Given the description of an element on the screen output the (x, y) to click on. 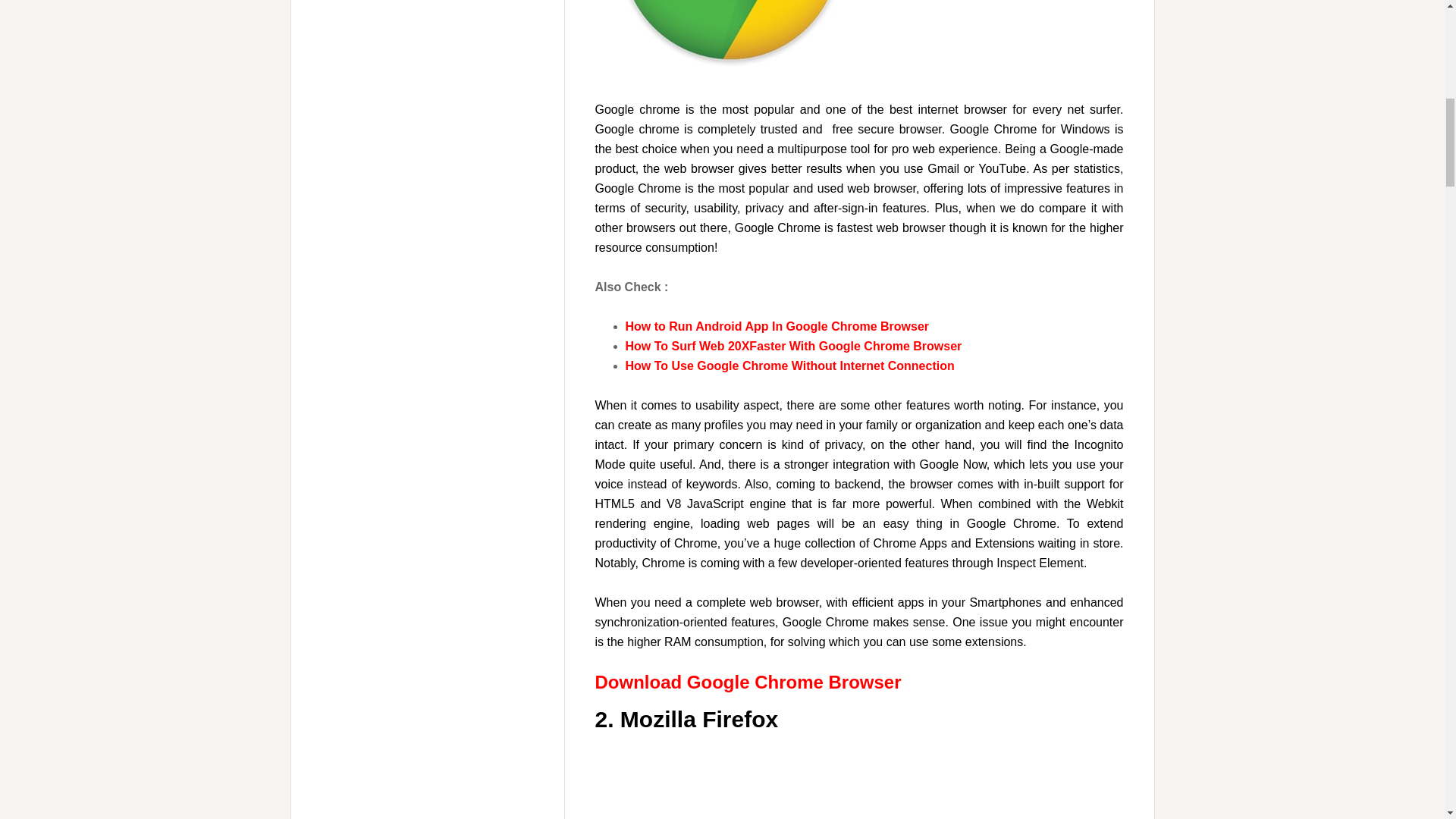
Download Google Chrome Browser (747, 681)
How To Surf Web 20XFaster With Google Chrome Browser (792, 345)
How To Use Google Chrome Without Internet Connection (788, 365)
How to Run Android App In Google Chrome Browser (776, 326)
google chrome best internet browser (858, 40)
